Given the description of an element on the screen output the (x, y) to click on. 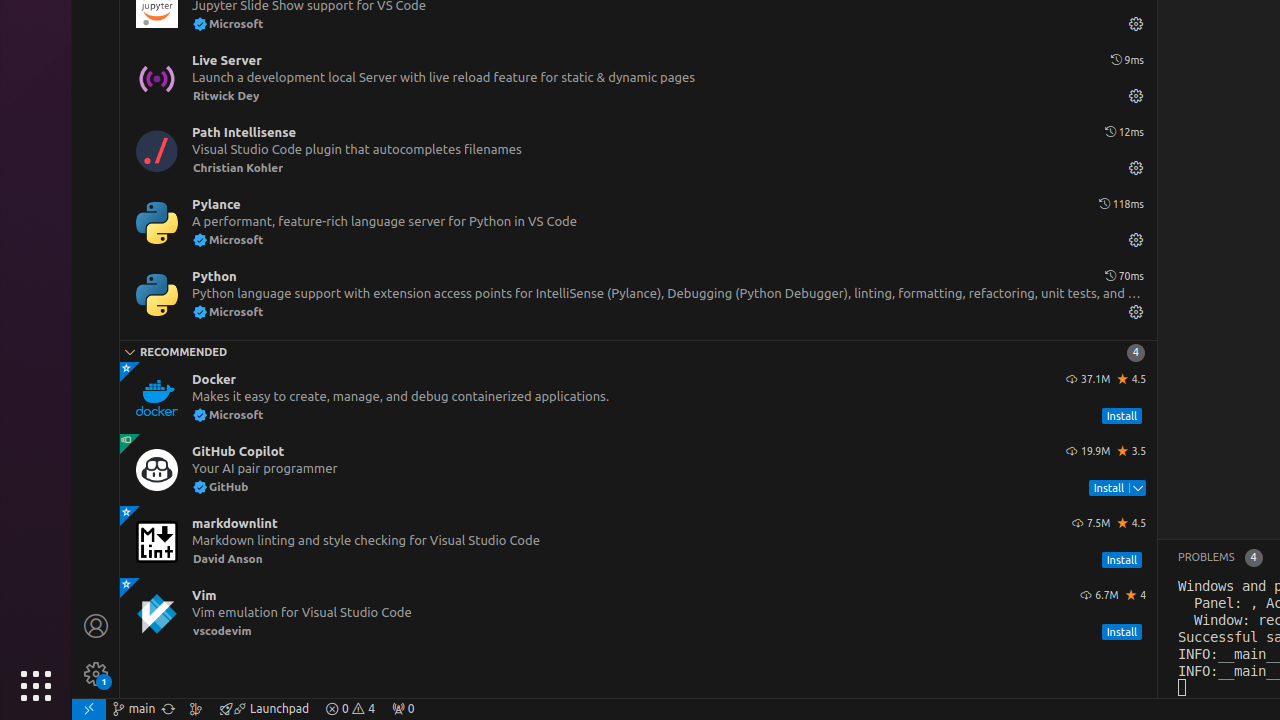
markdownlint, 0.56.0, Publisher David Anson, Markdown linting and style checking for Visual Studio Code , Rated 4.51 out of 5 stars by 76 users Element type: list-item (638, 541)
rocket gitlens-unplug Launchpad, GitLens Launchpad ᴘʀᴇᴠɪᴇᴡ    &mdash;    [$(question)](command:gitlens.launchpad.indicator.action?%22info%22 "What is this?") [$(gear)](command:workbench.action.openSettings?%22gitlens.launchpad%22 "Settings")  |  [$(circle-slash) Hide](command:gitlens.launchpad.indicator.action?%22hide%22 "Hide") --- [Launchpad](command:gitlens.launchpad.indicator.action?%info%22 "Learn about Launchpad") organizes your pull requests into actionable groups to help you focus and keep your team unblocked. It's always accessible using the `GitLens: Open Launchpad` command from the Command Palette. --- [Connect an integration](command:gitlens.showLaunchpad?%7B%22source%22%3A%22launchpad-indicator%22%7D "Connect an integration") to get started. Element type: push-button (264, 709)
